Given the description of an element on the screen output the (x, y) to click on. 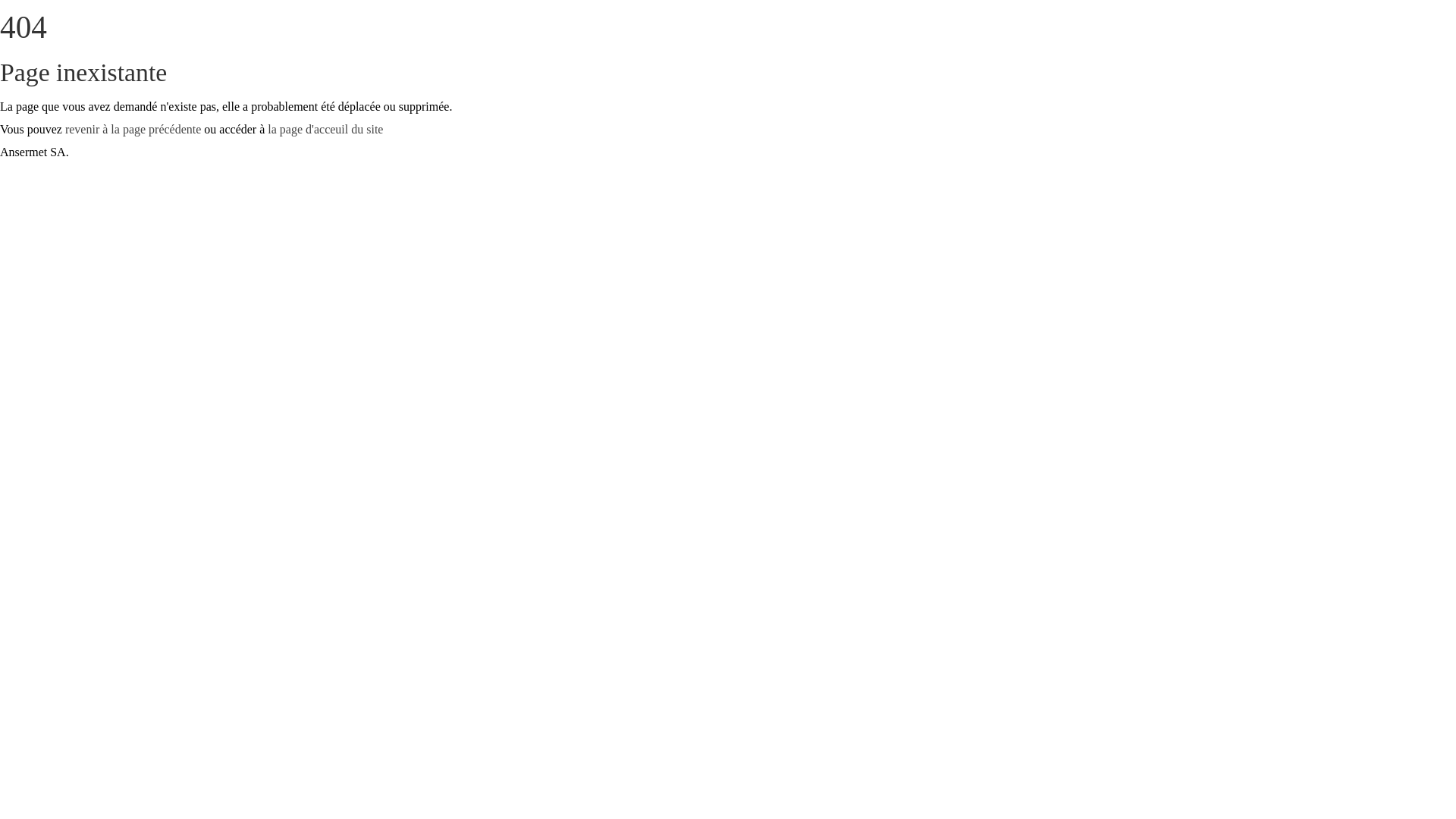
la page d'acceuil du site Element type: text (324, 128)
